Given the description of an element on the screen output the (x, y) to click on. 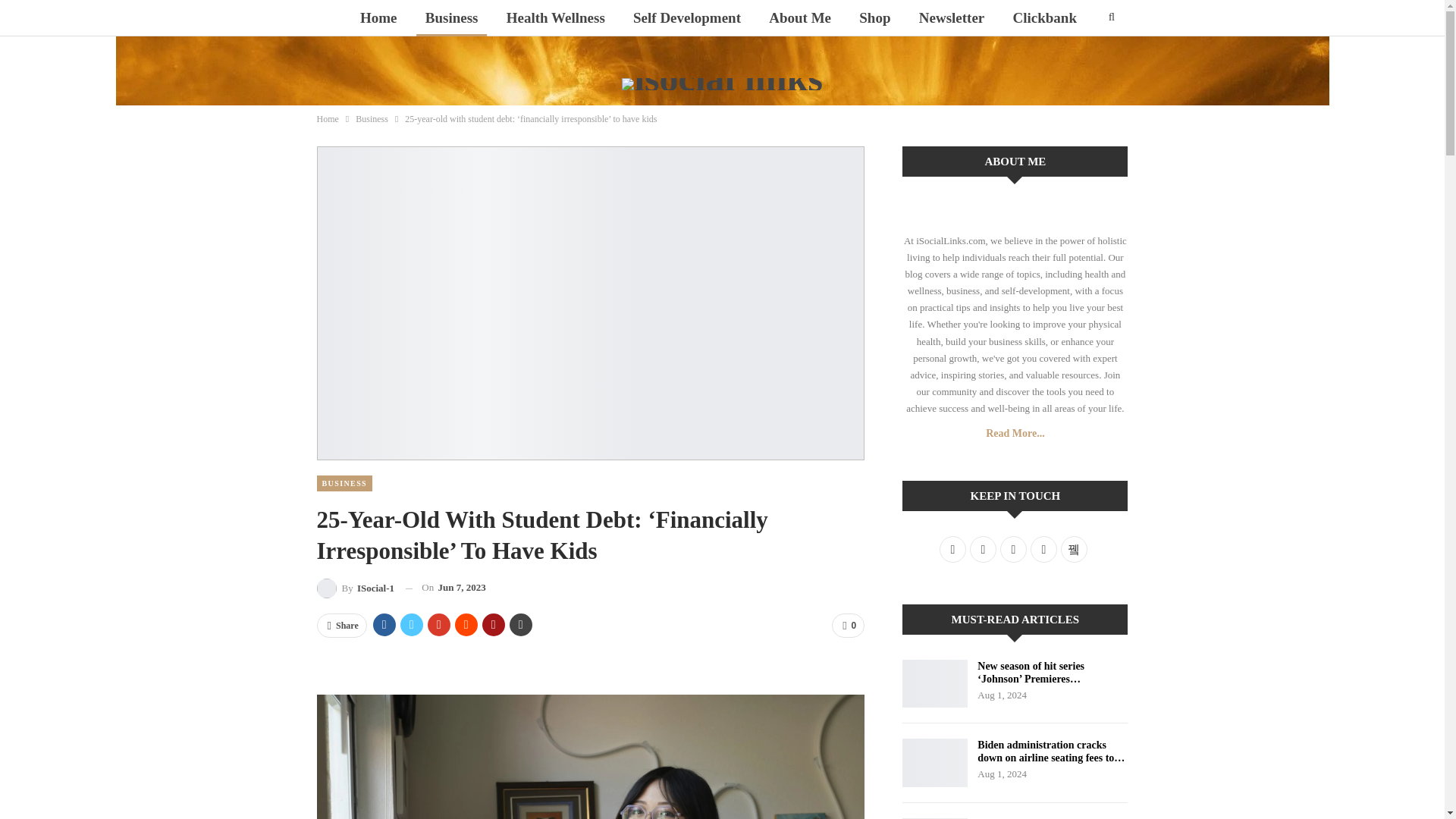
About Me (800, 18)
Clickbank (1045, 18)
Newsletter (952, 18)
Shop (874, 18)
Home (328, 118)
By ISocial-1 (355, 588)
Health Wellness (555, 18)
Home (378, 18)
Self Development (686, 18)
0 (847, 625)
Browse Author Articles (355, 588)
Business (371, 118)
Business (451, 18)
Digistore (718, 54)
BUSINESS (344, 483)
